Given the description of an element on the screen output the (x, y) to click on. 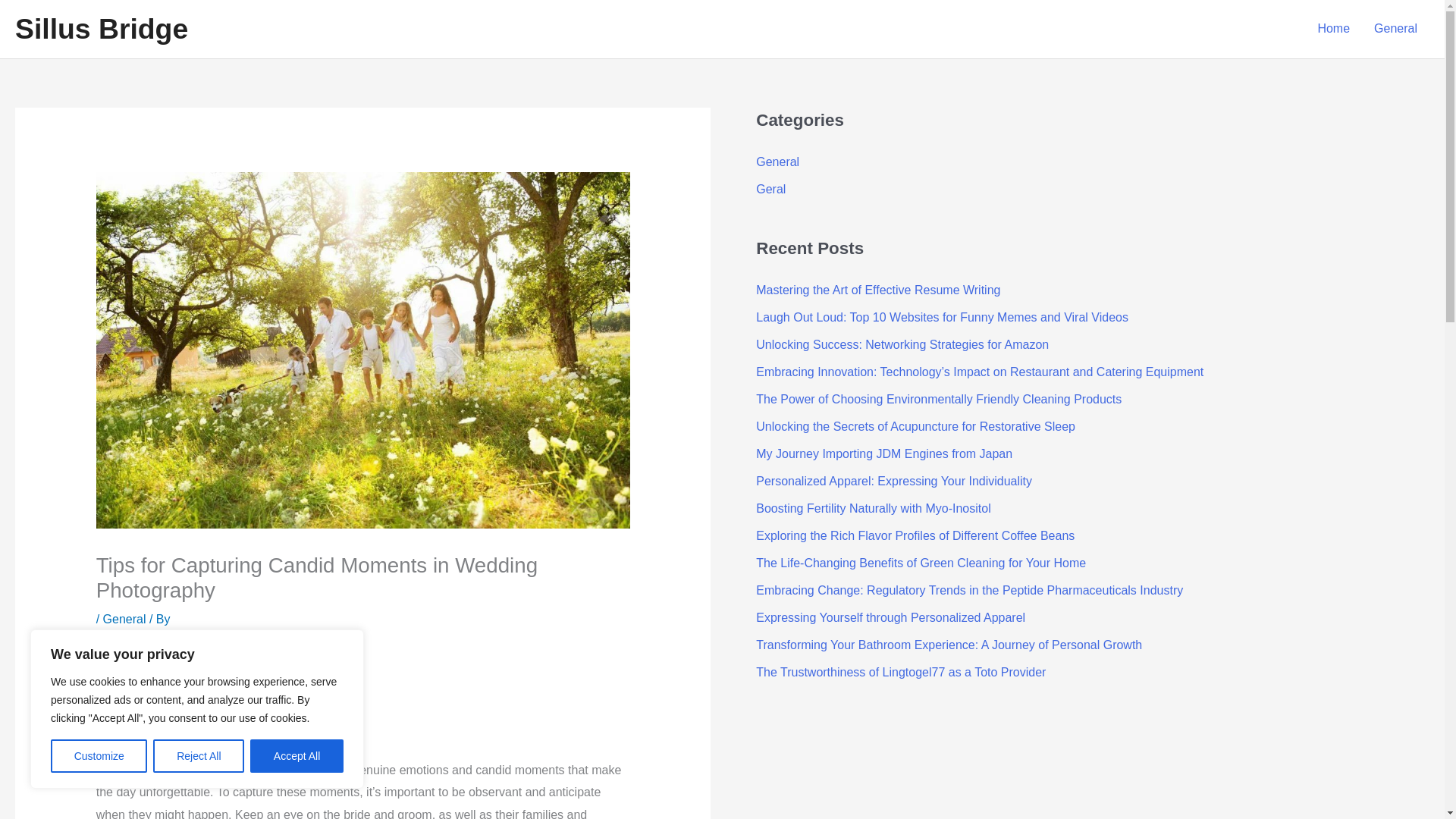
Accept All (296, 756)
General (125, 618)
General (1395, 28)
Customize (98, 756)
Home (1332, 28)
Mastering the Art of Effective Resume Writing (877, 289)
Sillus Bridge (100, 29)
Geral (770, 188)
General (777, 161)
